Given the description of an element on the screen output the (x, y) to click on. 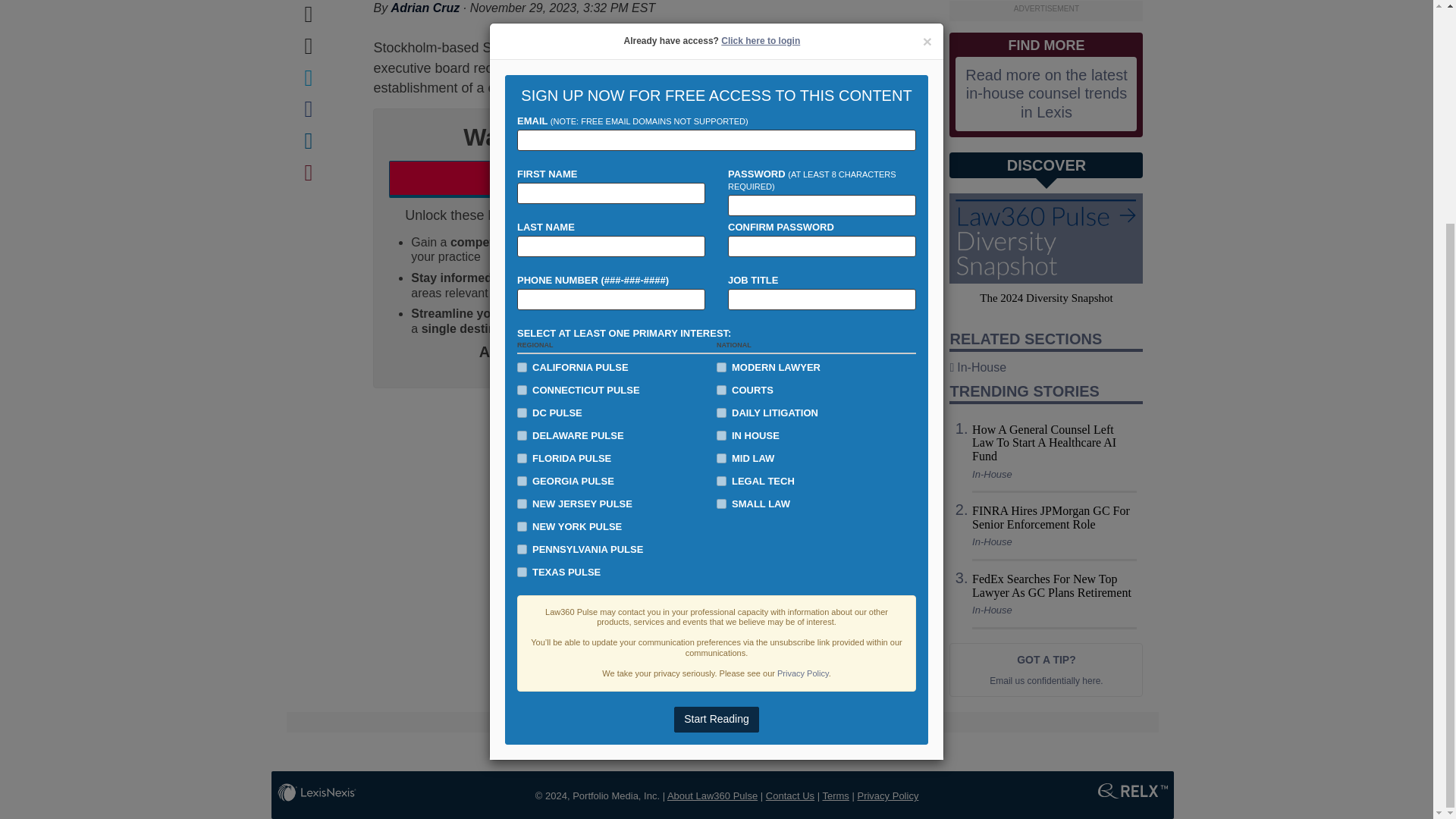
delaware-pulse (521, 137)
dc-pulse (521, 114)
california-pulse (521, 69)
georgia-pulse (521, 183)
texas-pulse (521, 274)
new-jersey-pulse (521, 205)
courts (721, 91)
florida-pulse (521, 160)
modern-lawyer (721, 69)
pennsylvania-pulse (521, 251)
connecticut-pulse (521, 91)
new-york-pulse (521, 228)
